Given the description of an element on the screen output the (x, y) to click on. 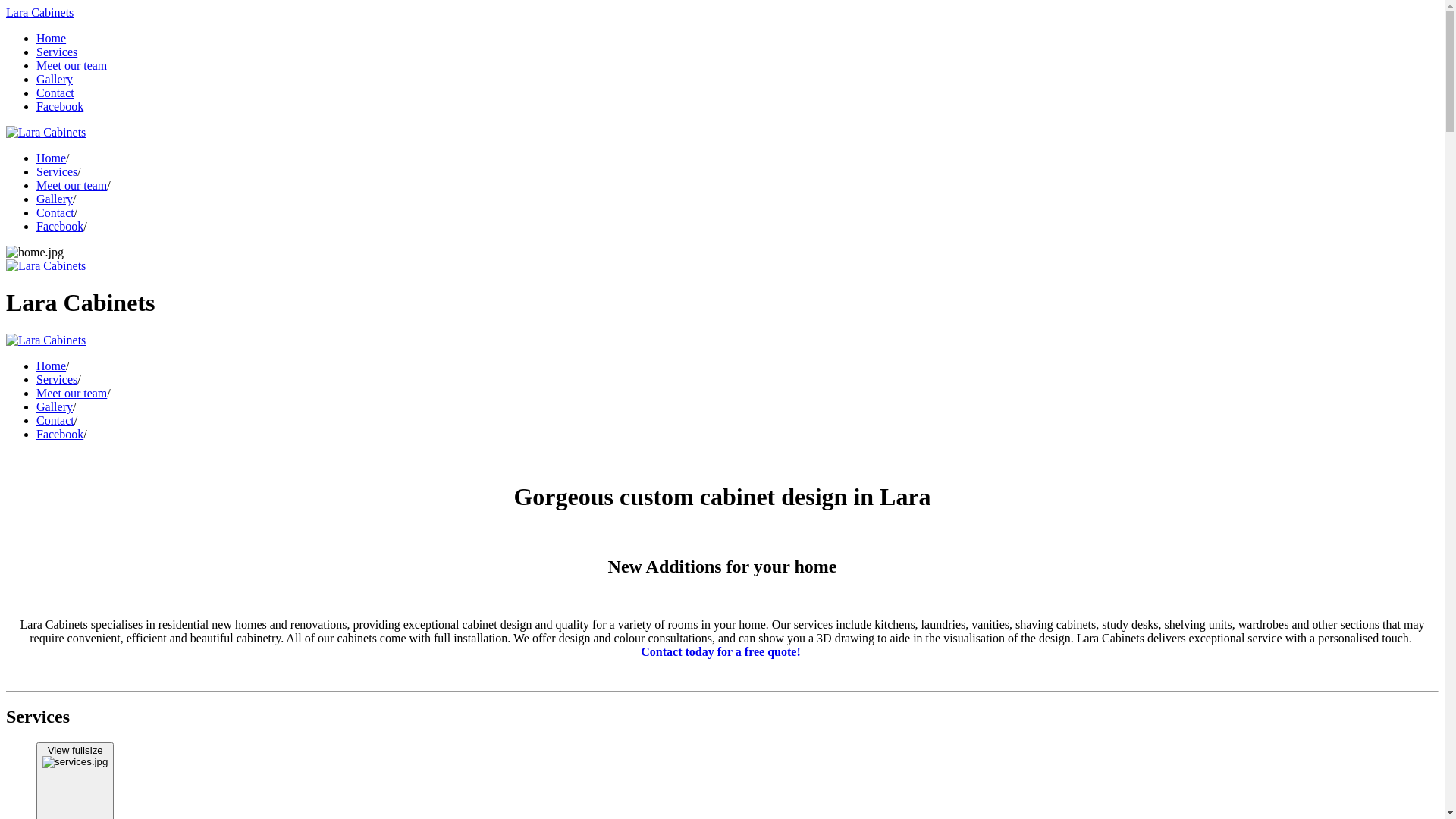
Gallery Element type: text (54, 78)
Home Element type: text (50, 365)
Home Element type: text (50, 157)
Services Element type: text (56, 171)
Contact Element type: text (55, 92)
Facebook Element type: text (59, 433)
Contact Element type: text (55, 420)
Meet our team Element type: text (71, 392)
Contact today for a free quote!  Element type: text (721, 651)
Lara Cabinets Element type: text (39, 12)
Services Element type: text (56, 51)
Gallery Element type: text (54, 198)
Home Element type: text (50, 37)
Services Element type: text (56, 379)
Facebook Element type: text (59, 225)
Gallery Element type: text (54, 406)
Contact Element type: text (55, 212)
Facebook Element type: text (59, 106)
Meet our team Element type: text (71, 184)
Meet our team Element type: text (71, 65)
